Given the description of an element on the screen output the (x, y) to click on. 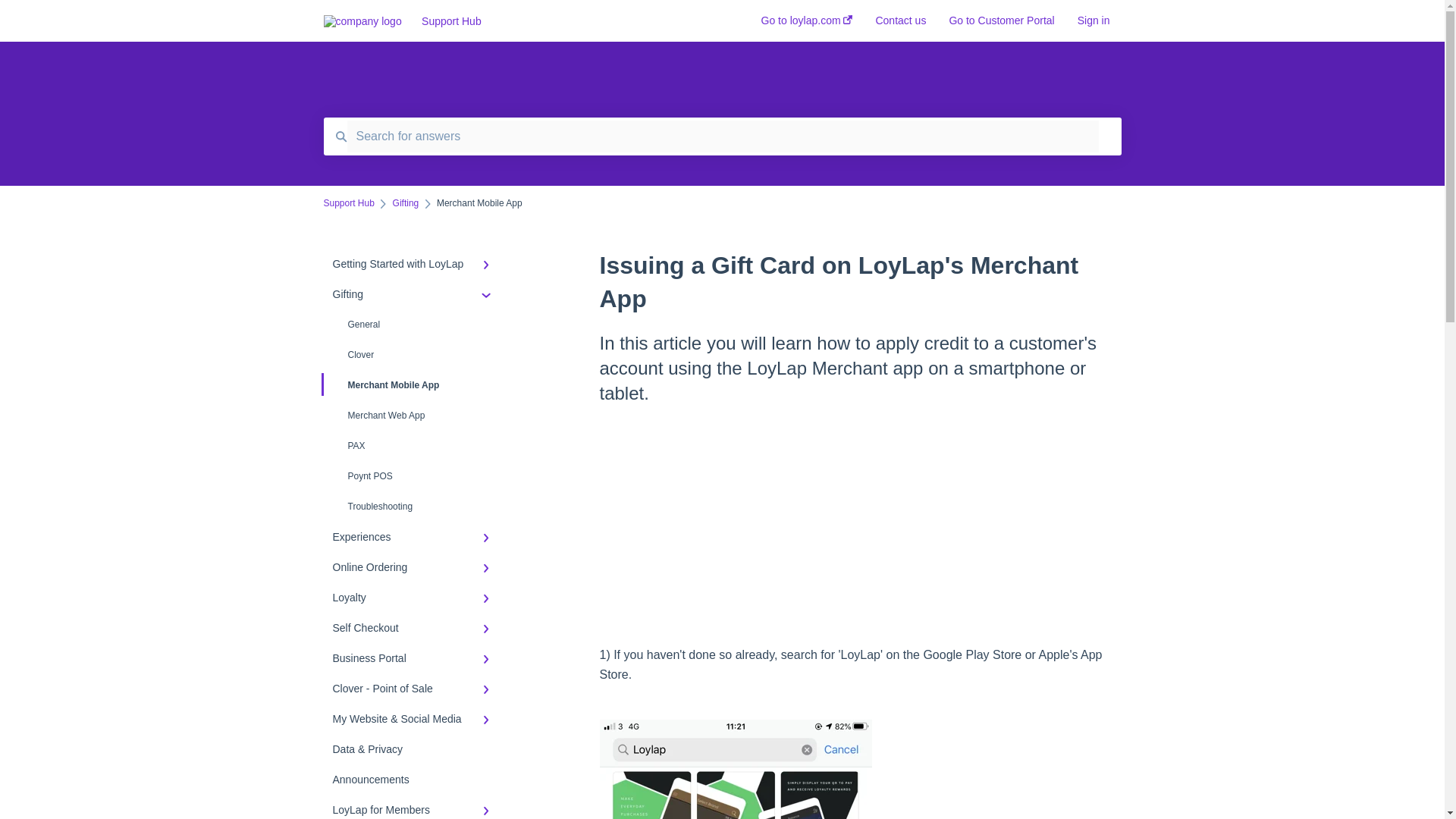
Go to loylap.com (807, 25)
Contact us (900, 25)
Adding a Gift Card on LoyLap Merchant App (860, 526)
Go to Customer Portal (1001, 25)
Sign in (1093, 25)
Support Hub (568, 21)
